Given the description of an element on the screen output the (x, y) to click on. 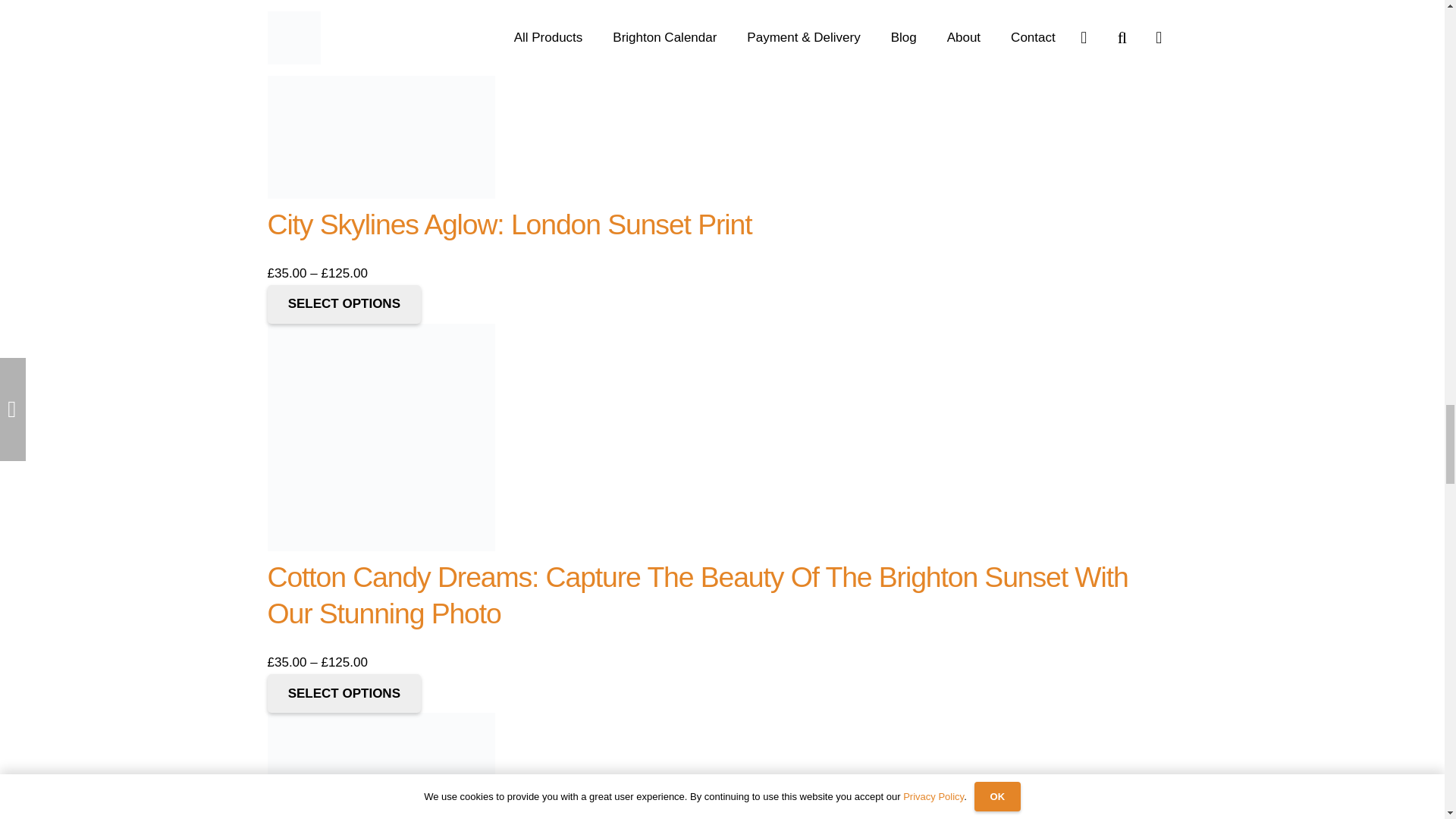
SELECT OPTIONS (343, 693)
City Skylines Aglow: London Sunset Print (508, 224)
SELECT OPTIONS (343, 304)
